Given the description of an element on the screen output the (x, y) to click on. 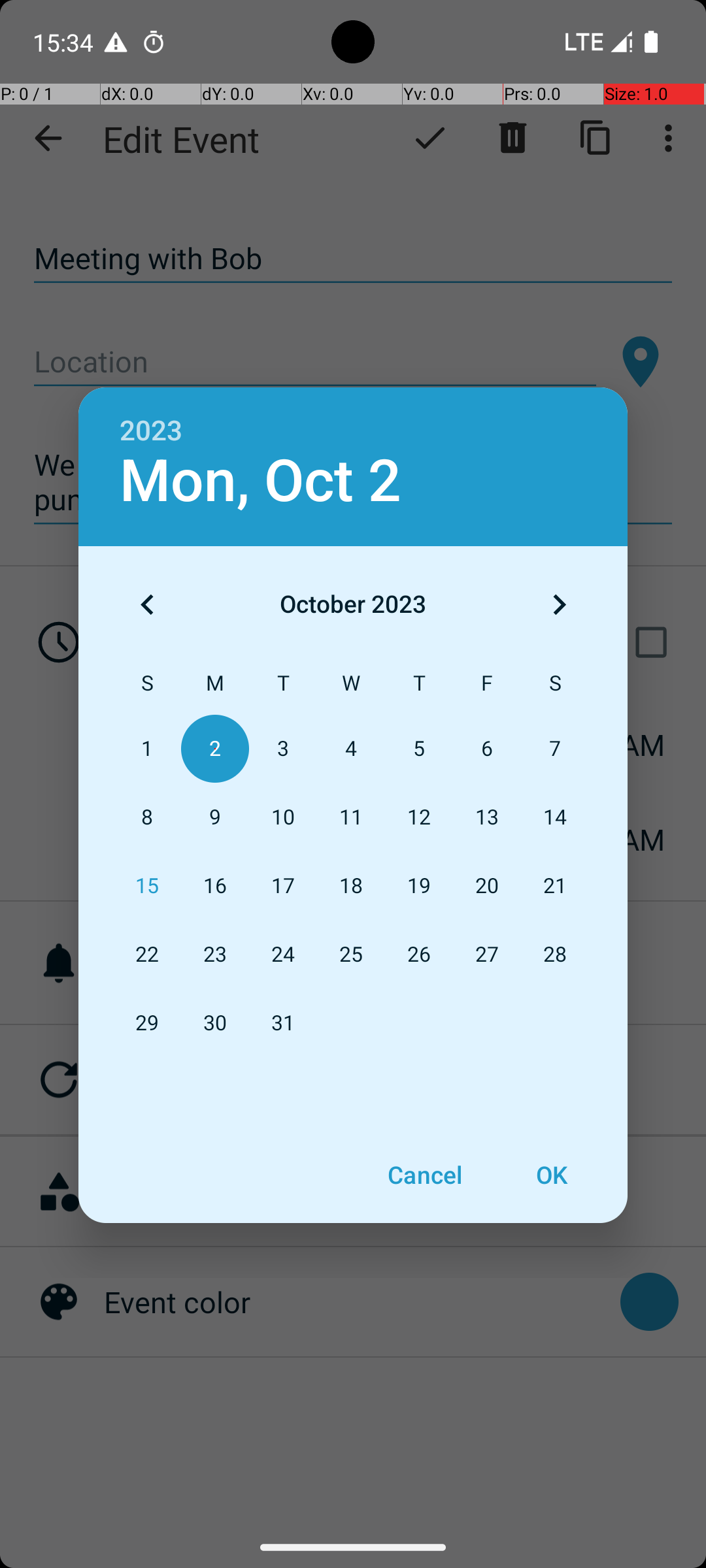
Mon, Oct 2 Element type: android.widget.TextView (260, 480)
